Given the description of an element on the screen output the (x, y) to click on. 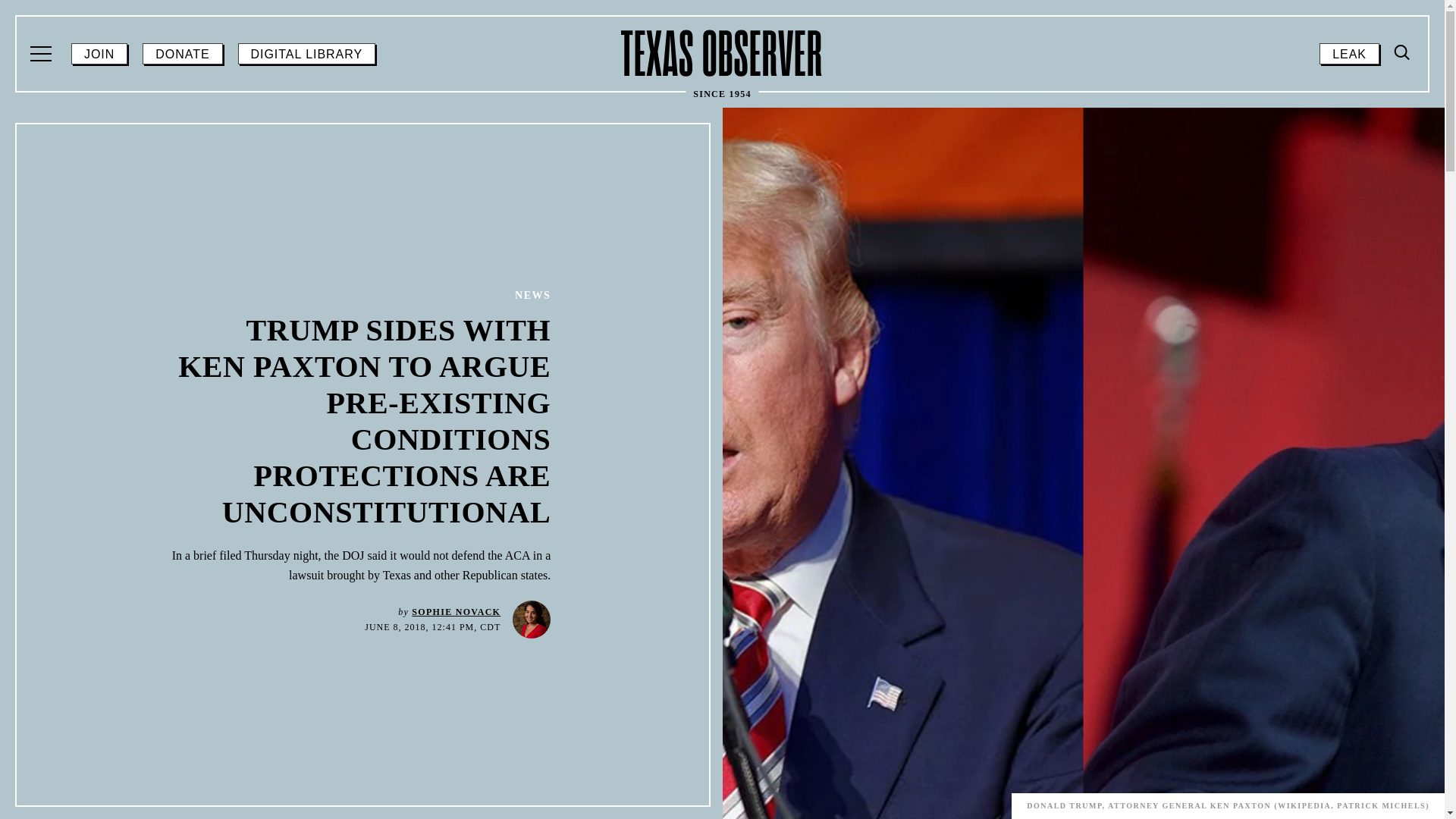
Posts by Sophie Novack (456, 611)
The Texas Observer (1402, 53)
Search icon (721, 53)
LEAK (1402, 51)
DIGITAL LIBRARY (1348, 53)
SEARCH (306, 53)
DONATE (1400, 179)
JOIN (182, 53)
Toggle Menu (99, 53)
